Given the description of an element on the screen output the (x, y) to click on. 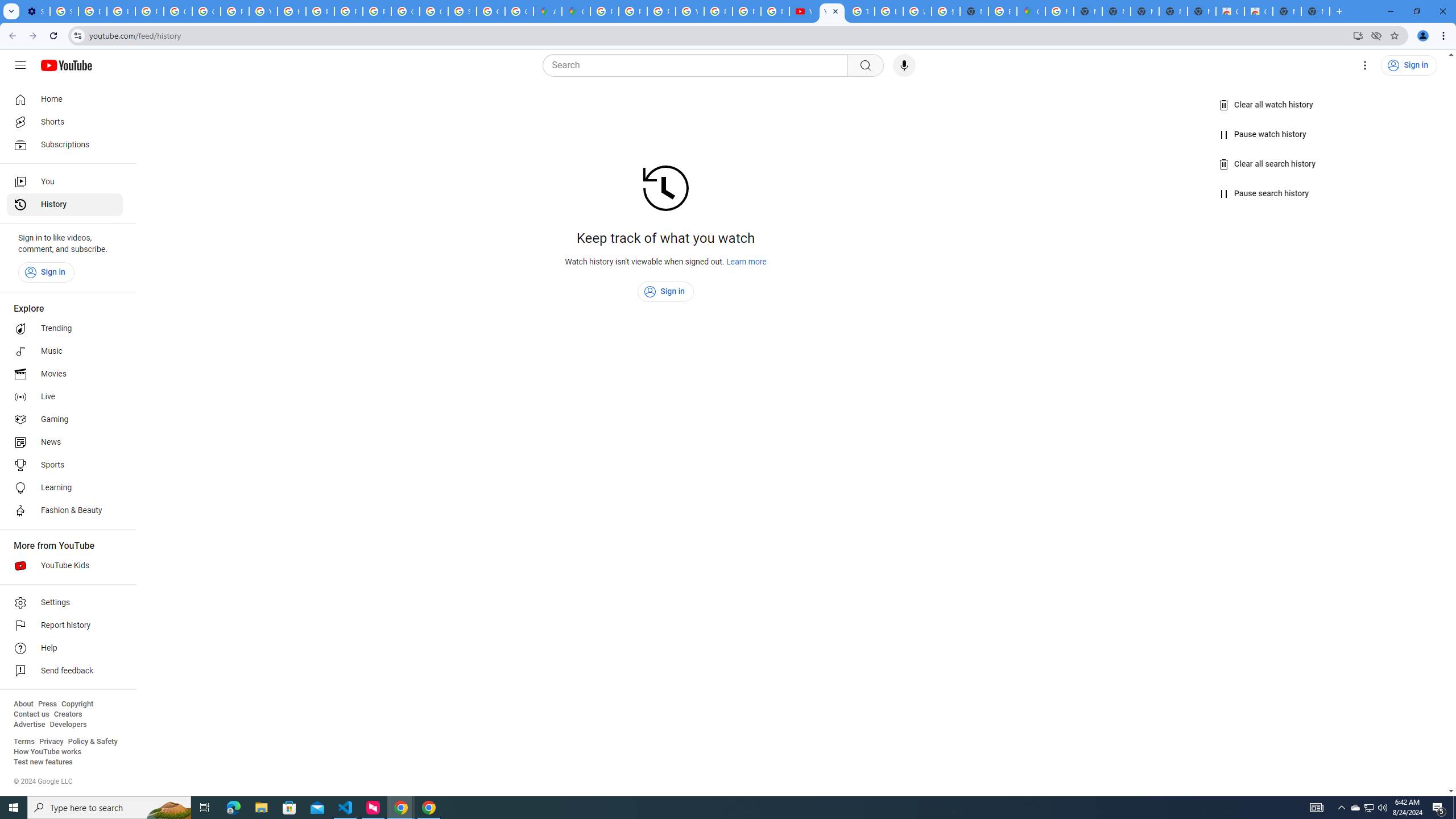
Creators (67, 714)
YouTube (803, 11)
History (64, 204)
Live (64, 396)
Test new features (42, 761)
Home (64, 99)
Shorts (64, 121)
Privacy Checkup (746, 11)
Gaming (64, 419)
Install YouTube (1358, 35)
Classic Blue - Chrome Web Store (1258, 11)
Delete photos & videos - Computer - Google Photos Help (92, 11)
